Given the description of an element on the screen output the (x, y) to click on. 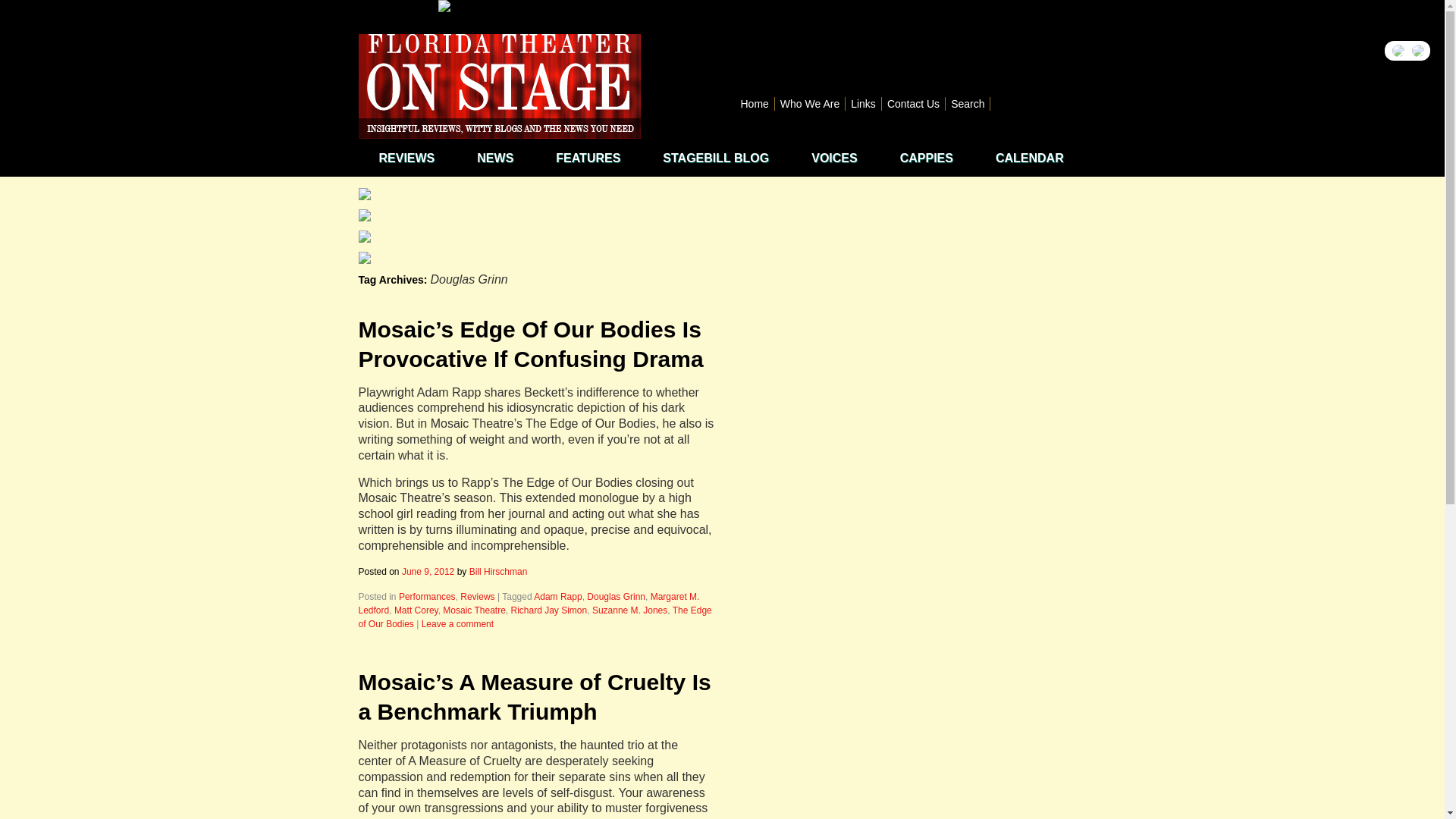
Who We Are (809, 103)
Douglas Grinn (615, 596)
Search (967, 103)
The Edge of Our Bodies (534, 617)
11:46 am (427, 571)
Links (863, 103)
Home (754, 103)
NEWS (494, 158)
CALENDAR (1029, 158)
Bill Hirschman (497, 571)
Contact Us (913, 103)
REVIEWS (406, 158)
Matt Corey (416, 610)
FEATURES (587, 158)
VOICES (833, 158)
